Given the description of an element on the screen output the (x, y) to click on. 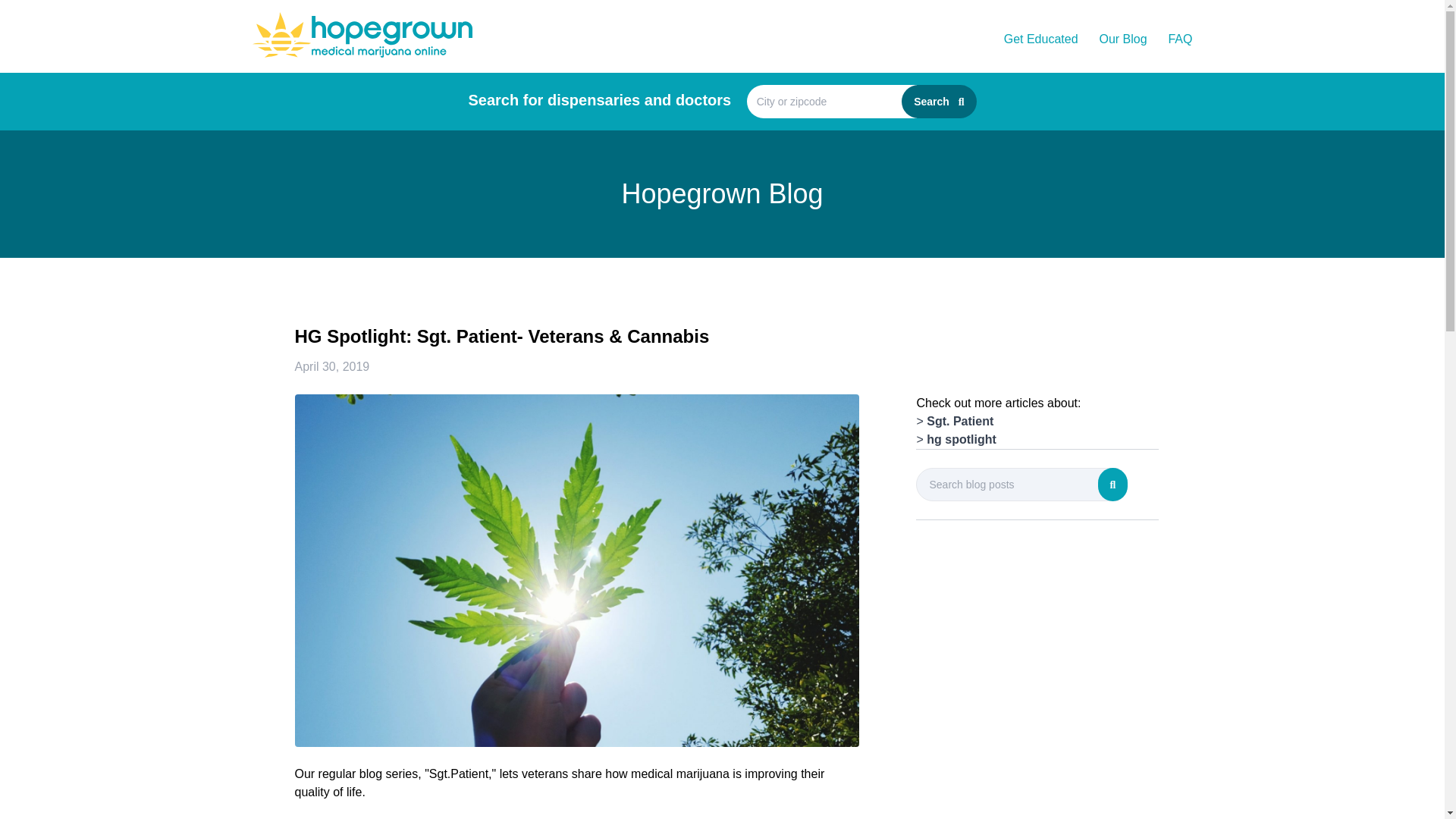
Search (938, 101)
Our Blog (1123, 39)
Hopegrown Blog (721, 194)
FAQ (1178, 39)
Get Educated (1041, 39)
